Given the description of an element on the screen output the (x, y) to click on. 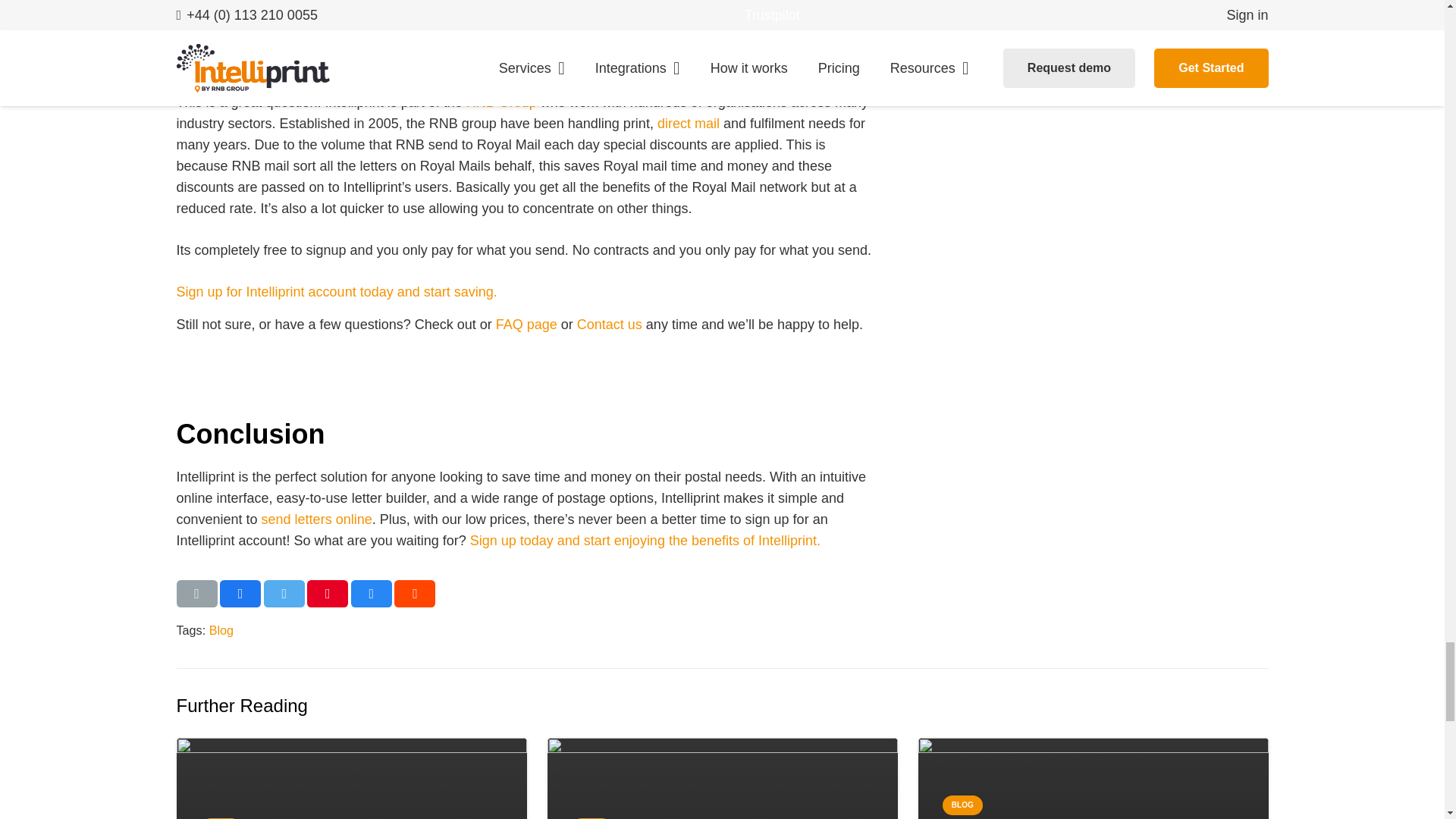
Email this (196, 593)
Share this (414, 593)
Share this (370, 593)
Share this (239, 593)
Pin this (327, 593)
Tweet this (283, 593)
